Given the description of an element on the screen output the (x, y) to click on. 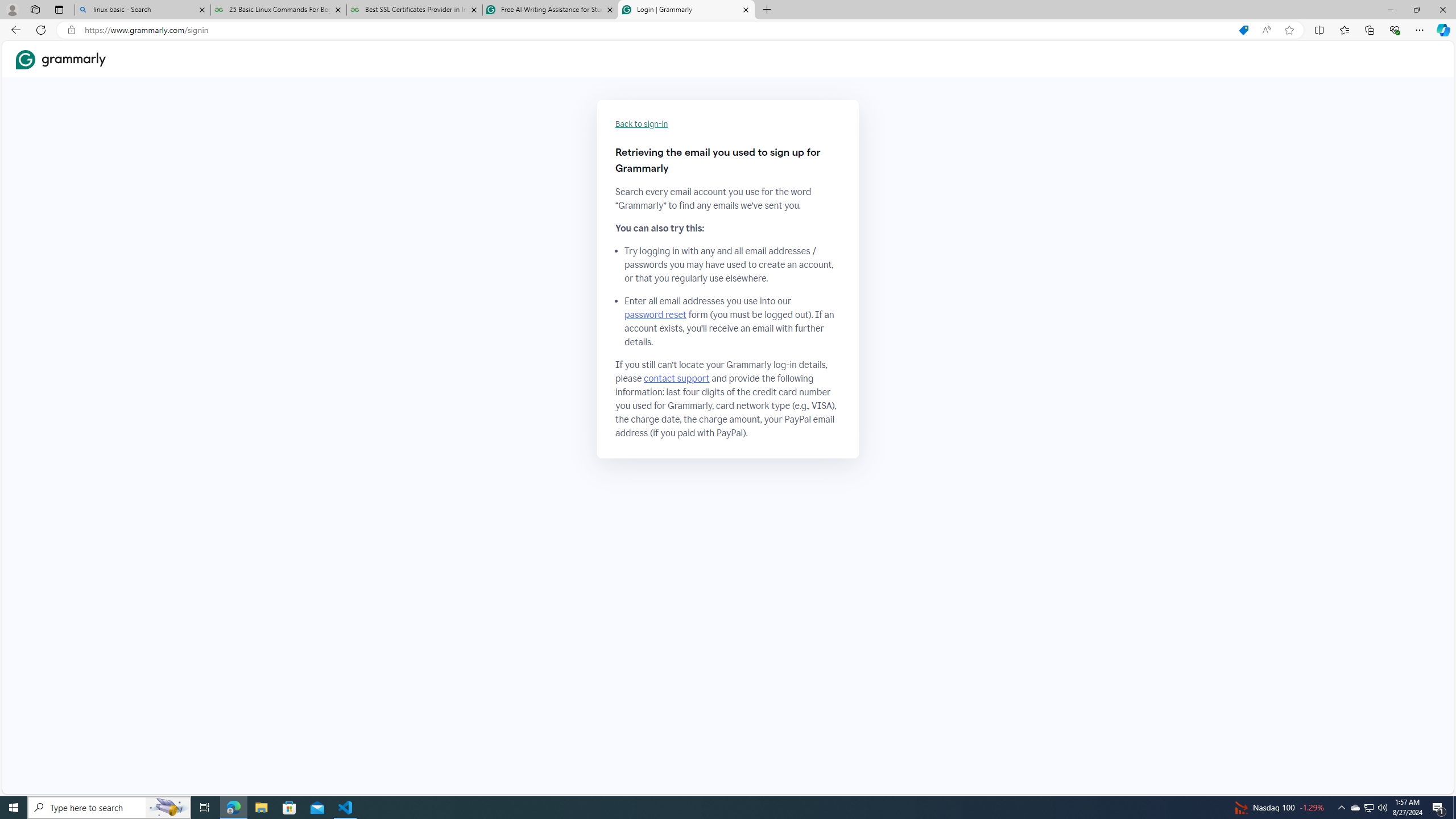
Grammarly Home (61, 58)
Free AI Writing Assistance for Students | Grammarly (550, 9)
Best SSL Certificates Provider in India - GeeksforGeeks (414, 9)
password reset (654, 314)
Back to sign-in (641, 124)
